Given the description of an element on the screen output the (x, y) to click on. 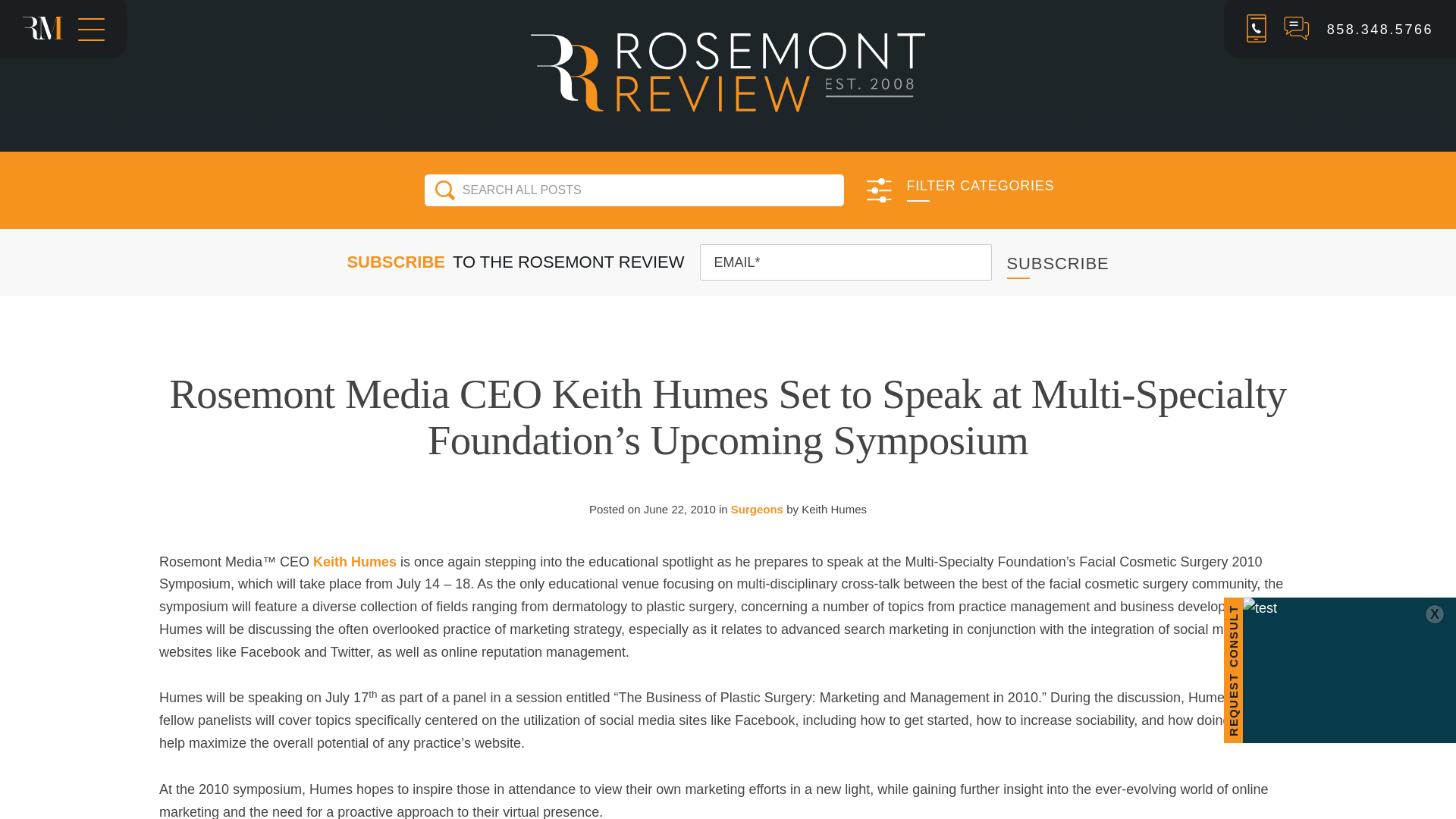
858.348.5766 (1379, 29)
Rosemont Review (727, 72)
search (444, 189)
Keith Humes (354, 561)
Subscribe (1058, 262)
